Given the description of an element on the screen output the (x, y) to click on. 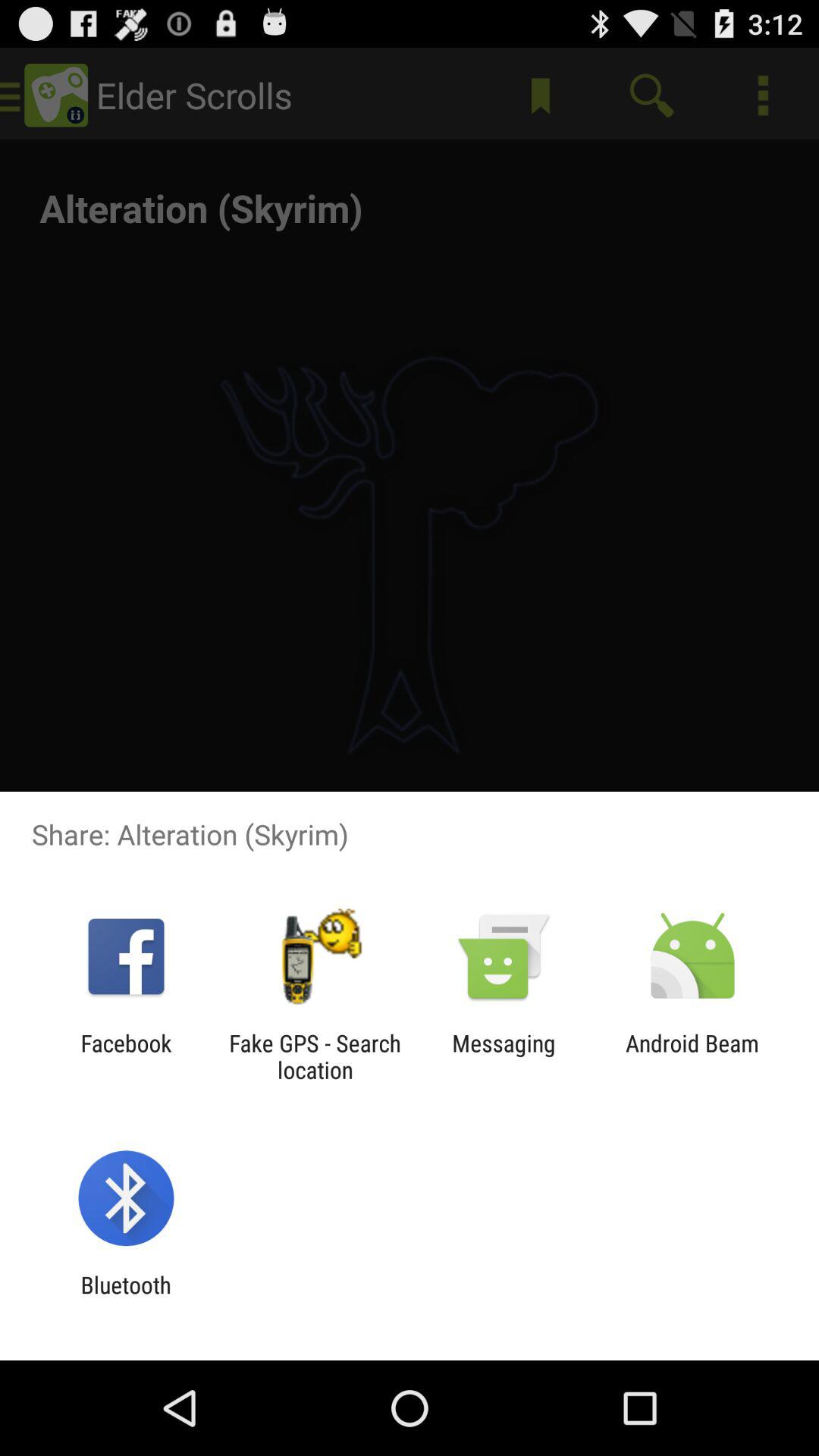
tap android beam icon (692, 1056)
